Given the description of an element on the screen output the (x, y) to click on. 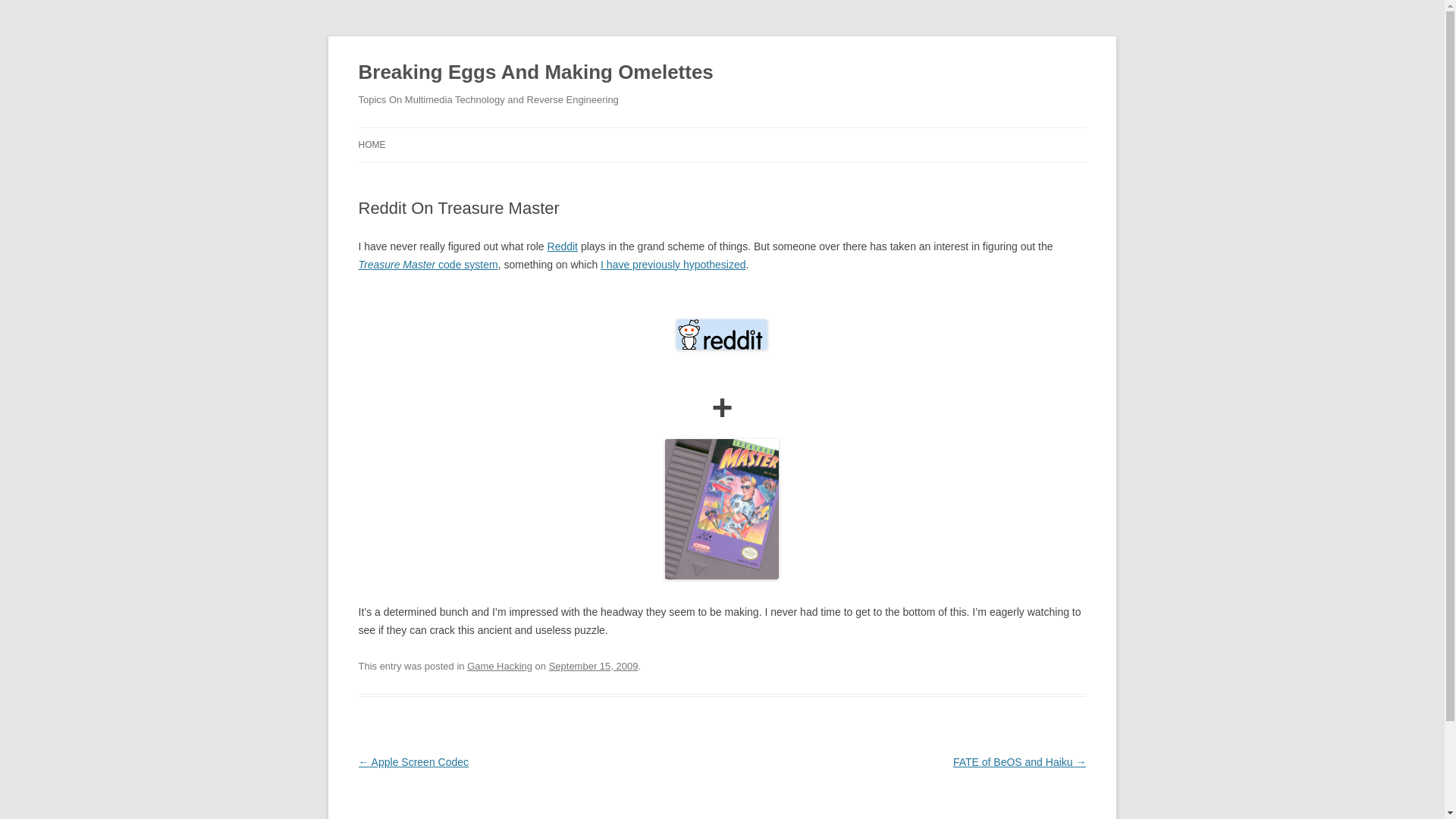
I have previously hypothesized (672, 264)
8:04 pm (593, 665)
Breaking Eggs And Making Omelettes (535, 72)
Reddit (562, 246)
Treasure Master code system (427, 264)
September 15, 2009 (593, 665)
Game Hacking (499, 665)
Reddit logo (722, 334)
